Given the description of an element on the screen output the (x, y) to click on. 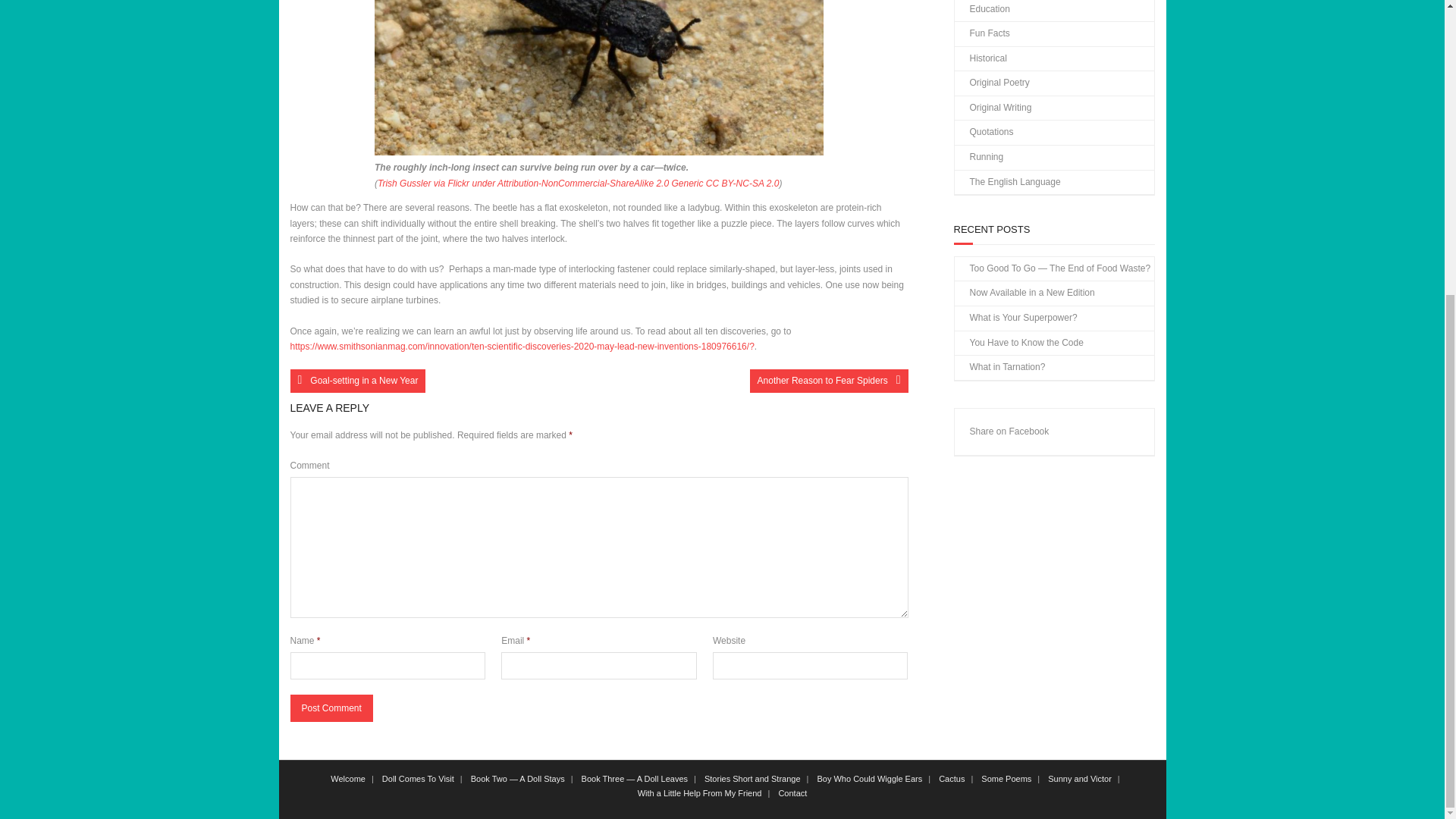
Post Comment (330, 707)
